Given the description of an element on the screen output the (x, y) to click on. 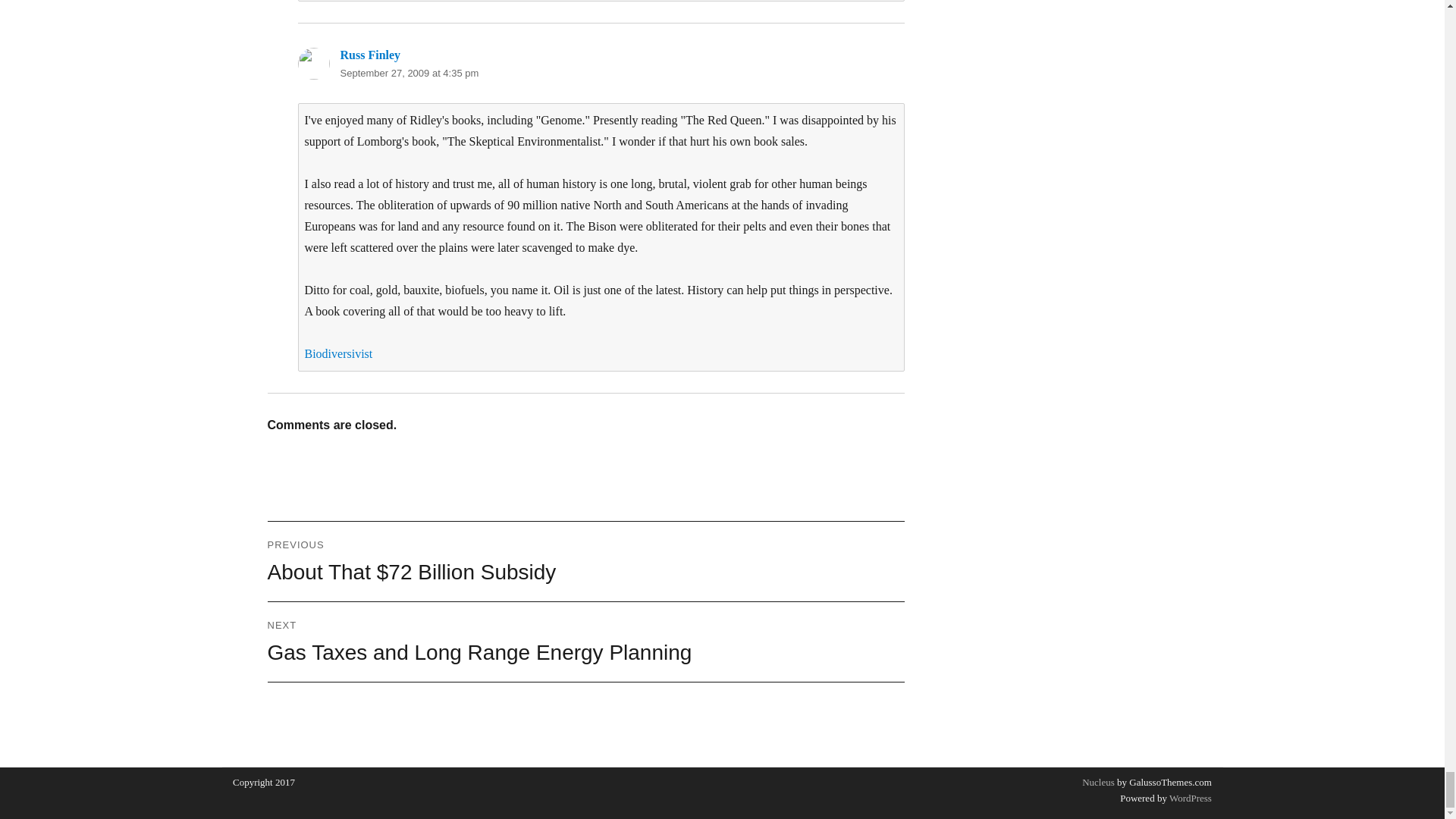
Semantic Personal Publishing Platform (1189, 797)
